Given the description of an element on the screen output the (x, y) to click on. 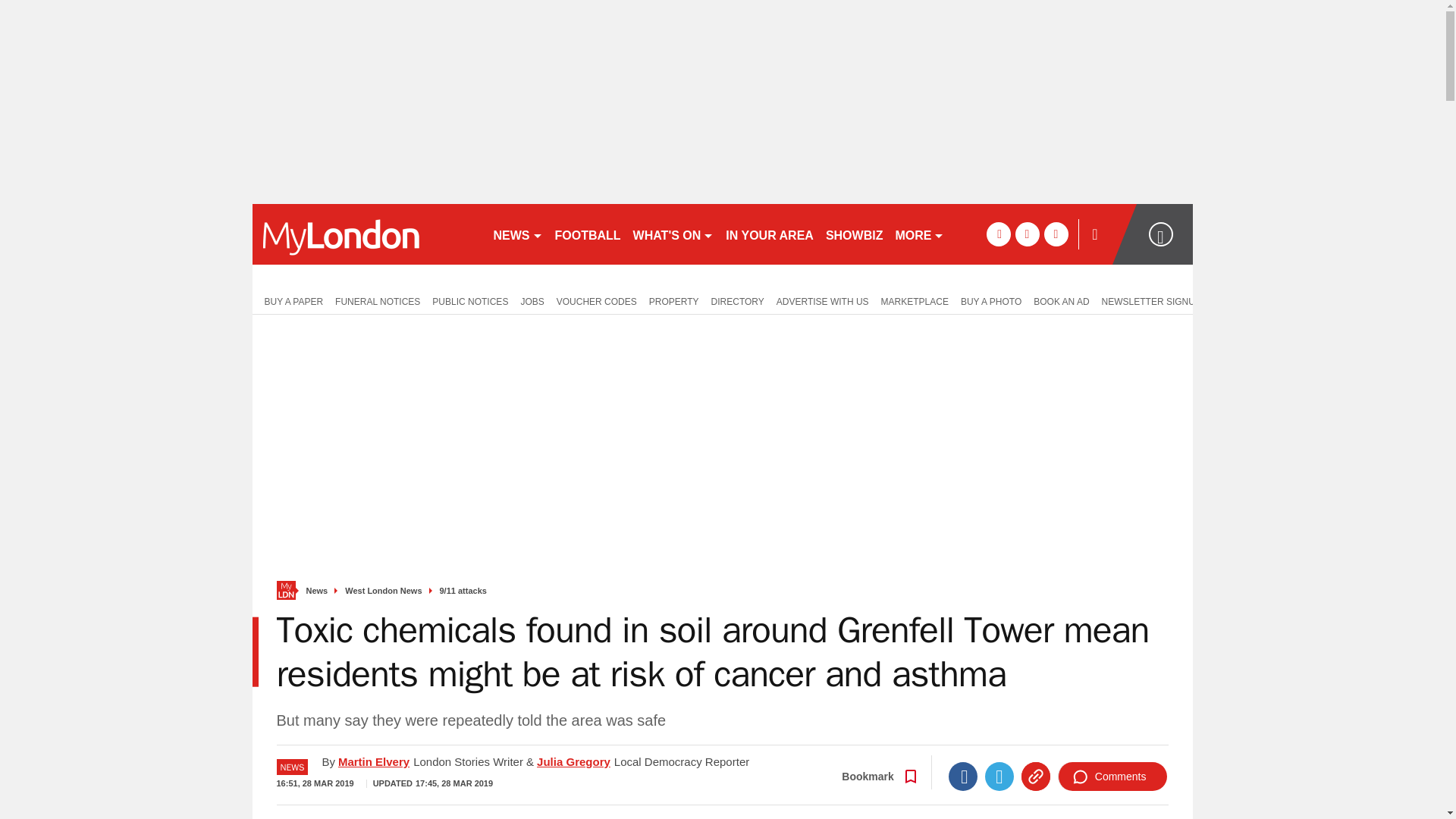
SHOWBIZ (854, 233)
twitter (1026, 233)
facebook (997, 233)
Comments (1112, 776)
FOOTBALL (587, 233)
instagram (1055, 233)
MORE (919, 233)
WHAT'S ON (673, 233)
Facebook (962, 776)
IN YOUR AREA (769, 233)
Twitter (999, 776)
getwestlondon (365, 233)
NEWS (517, 233)
